Given the description of an element on the screen output the (x, y) to click on. 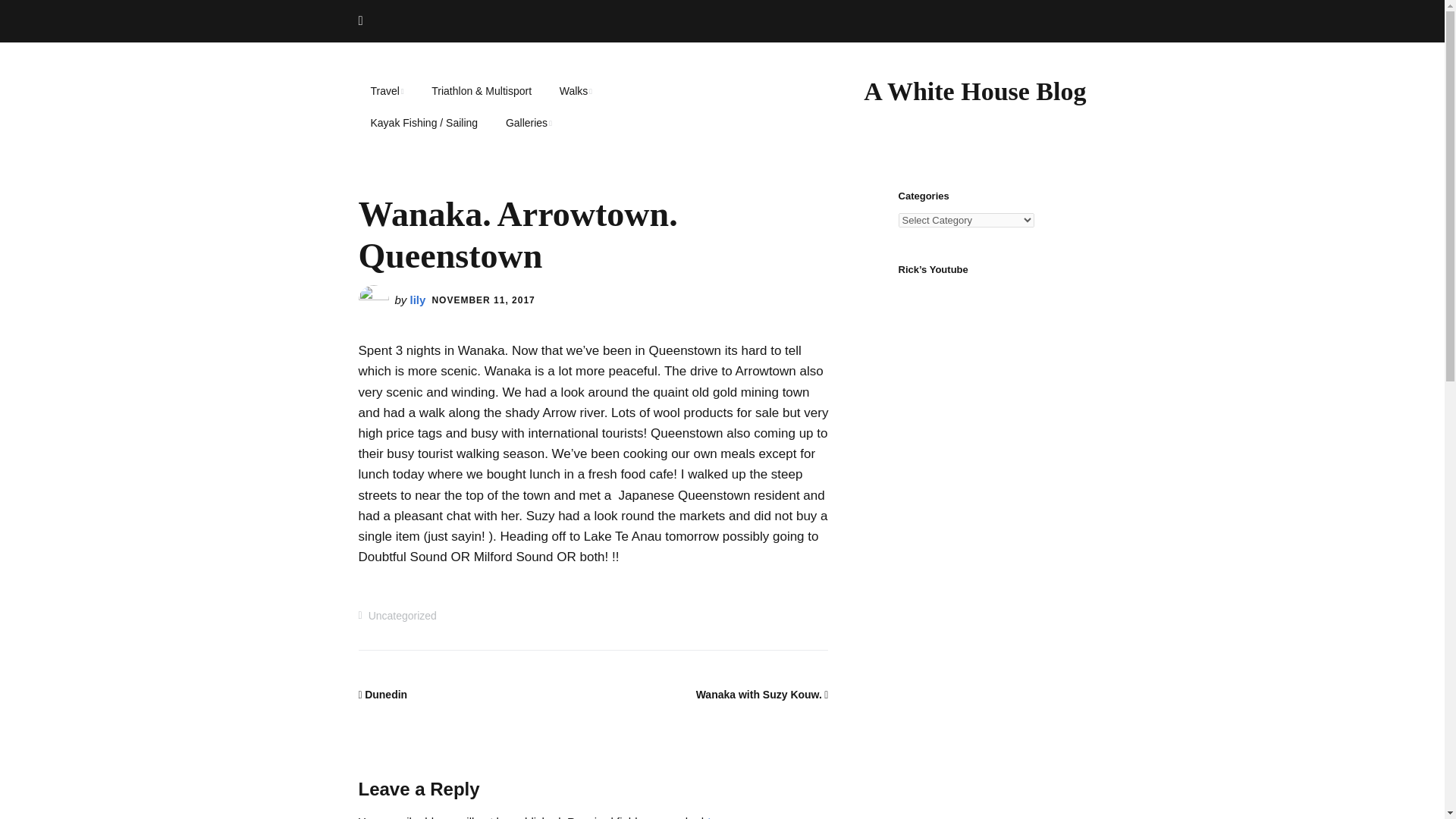
Galleries (528, 123)
Travel (386, 91)
A White House Blog (974, 90)
Walks (575, 91)
